Given the description of an element on the screen output the (x, y) to click on. 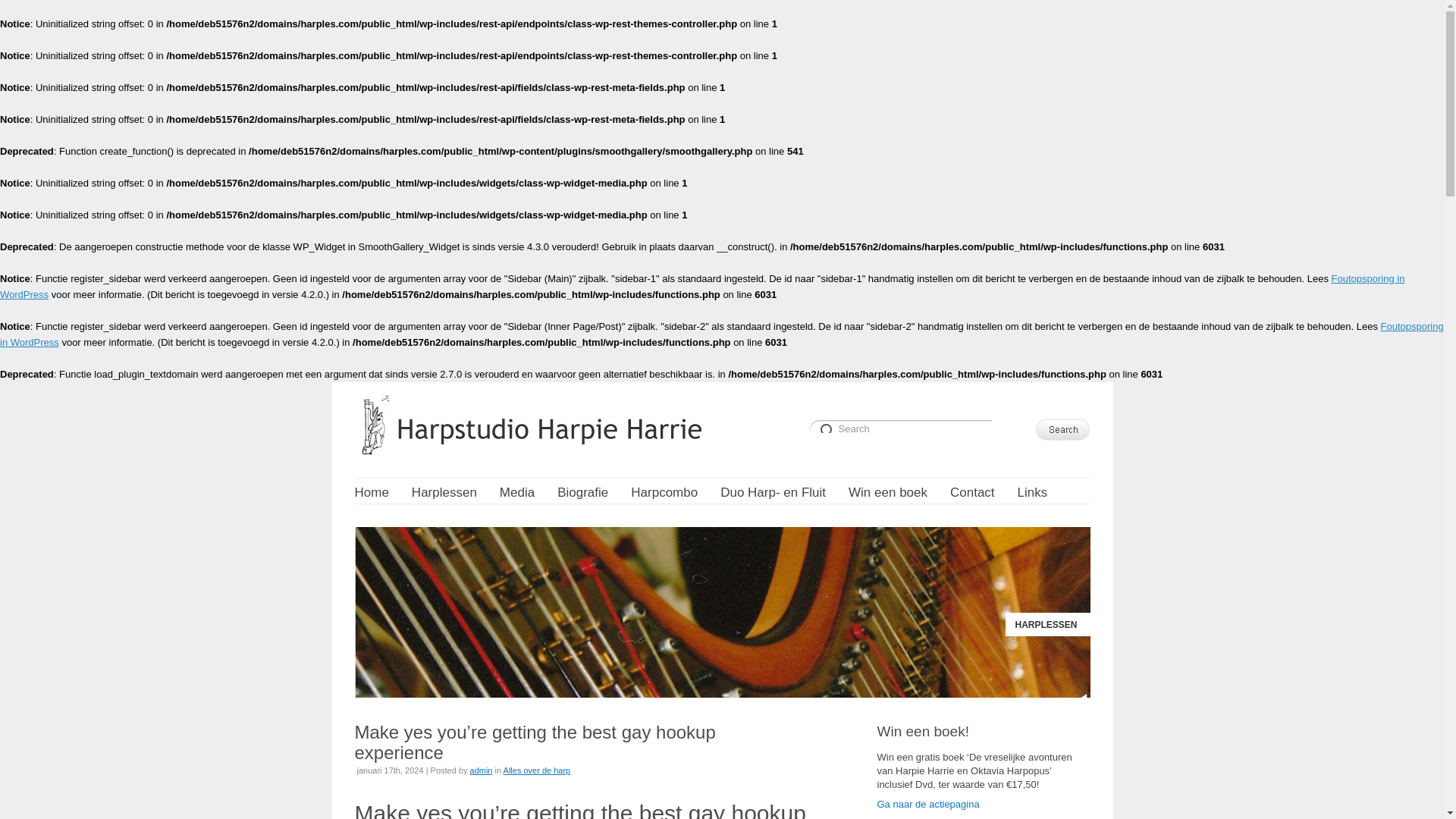
Media (516, 492)
Contact (972, 492)
Biografie (582, 492)
Search (900, 426)
Links (1032, 492)
Duo Harp- en Fluit (772, 492)
search (900, 426)
View all posts by admin (481, 769)
Foutopsporing in WordPress (722, 334)
Search (1061, 429)
Foutopsporing in WordPress (702, 286)
Win een boek (887, 492)
Ga naar de actiepagina (927, 803)
Search (900, 426)
Alles over de harp (536, 769)
